Given the description of an element on the screen output the (x, y) to click on. 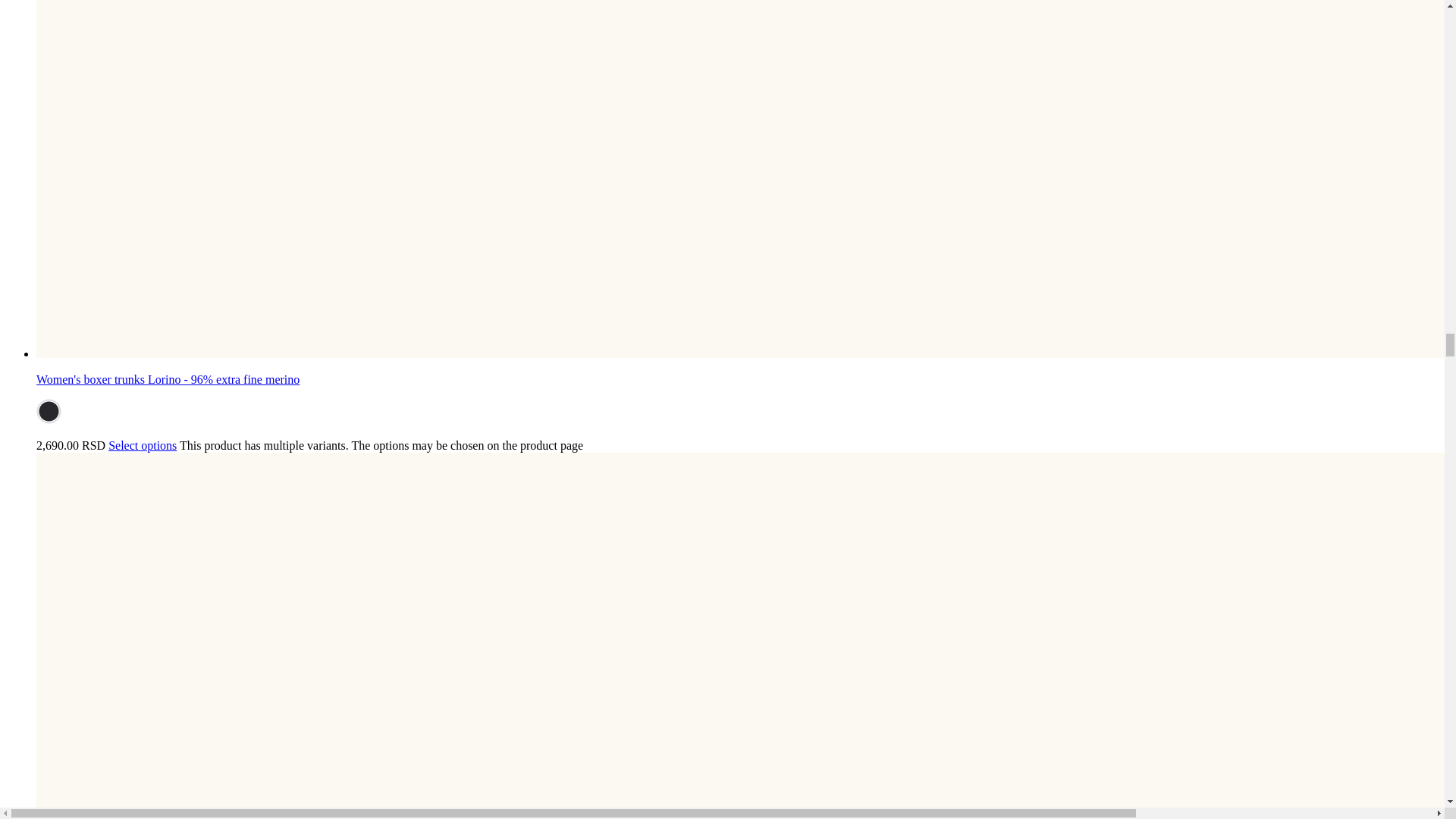
black (48, 411)
